Given the description of an element on the screen output the (x, y) to click on. 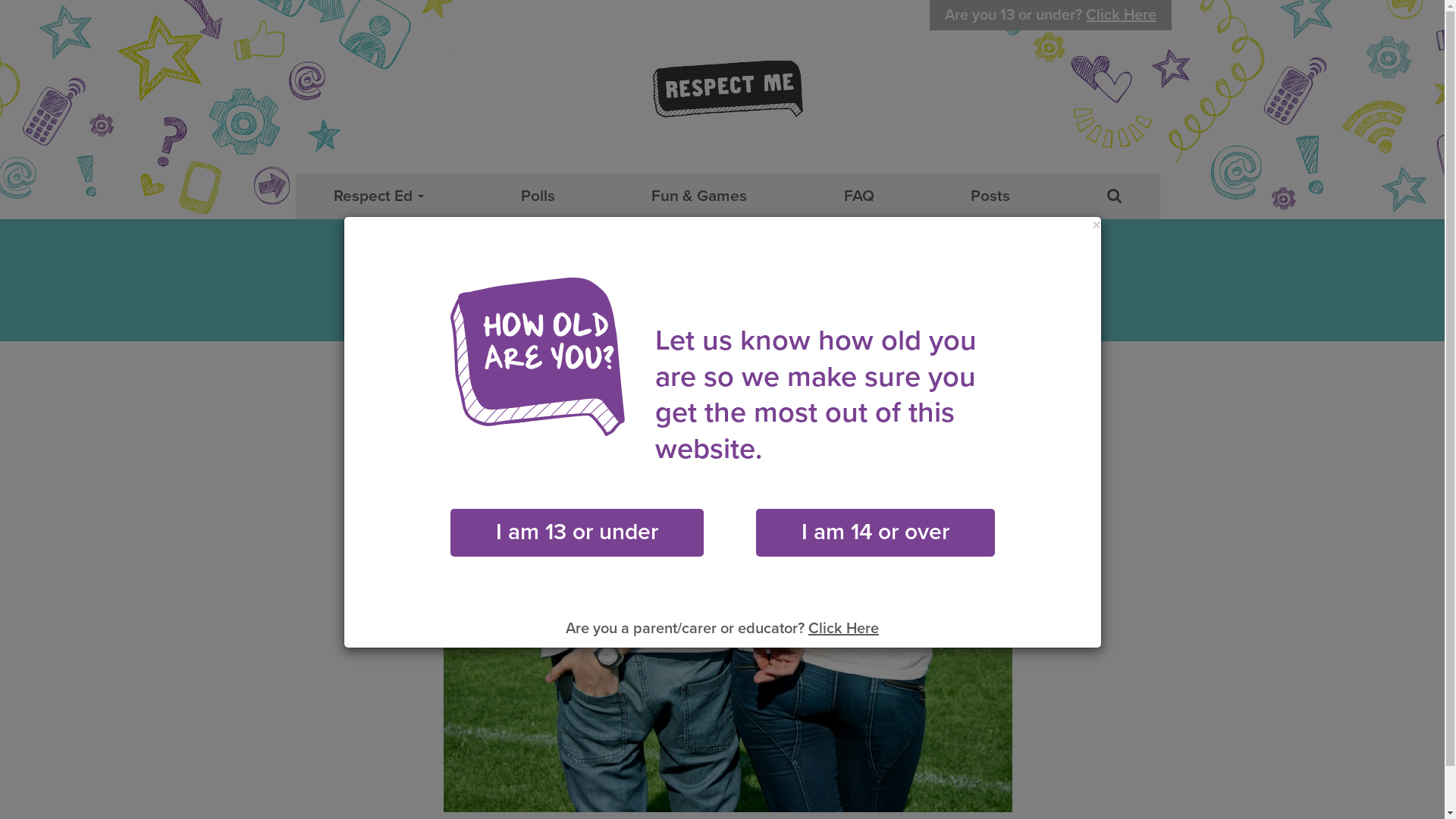
Polls Element type: text (537, 196)
I am 14 or over Element type: text (874, 532)
I am 13 or under Element type: text (576, 532)
FAQ Element type: text (858, 196)
Posts Element type: text (990, 196)
Click Here Element type: text (1120, 15)
Respect Ed Element type: text (378, 200)
Click Here Element type: text (843, 628)
Fun & Games Element type: text (699, 196)
BACK Element type: text (486, 402)
